Given the description of an element on the screen output the (x, y) to click on. 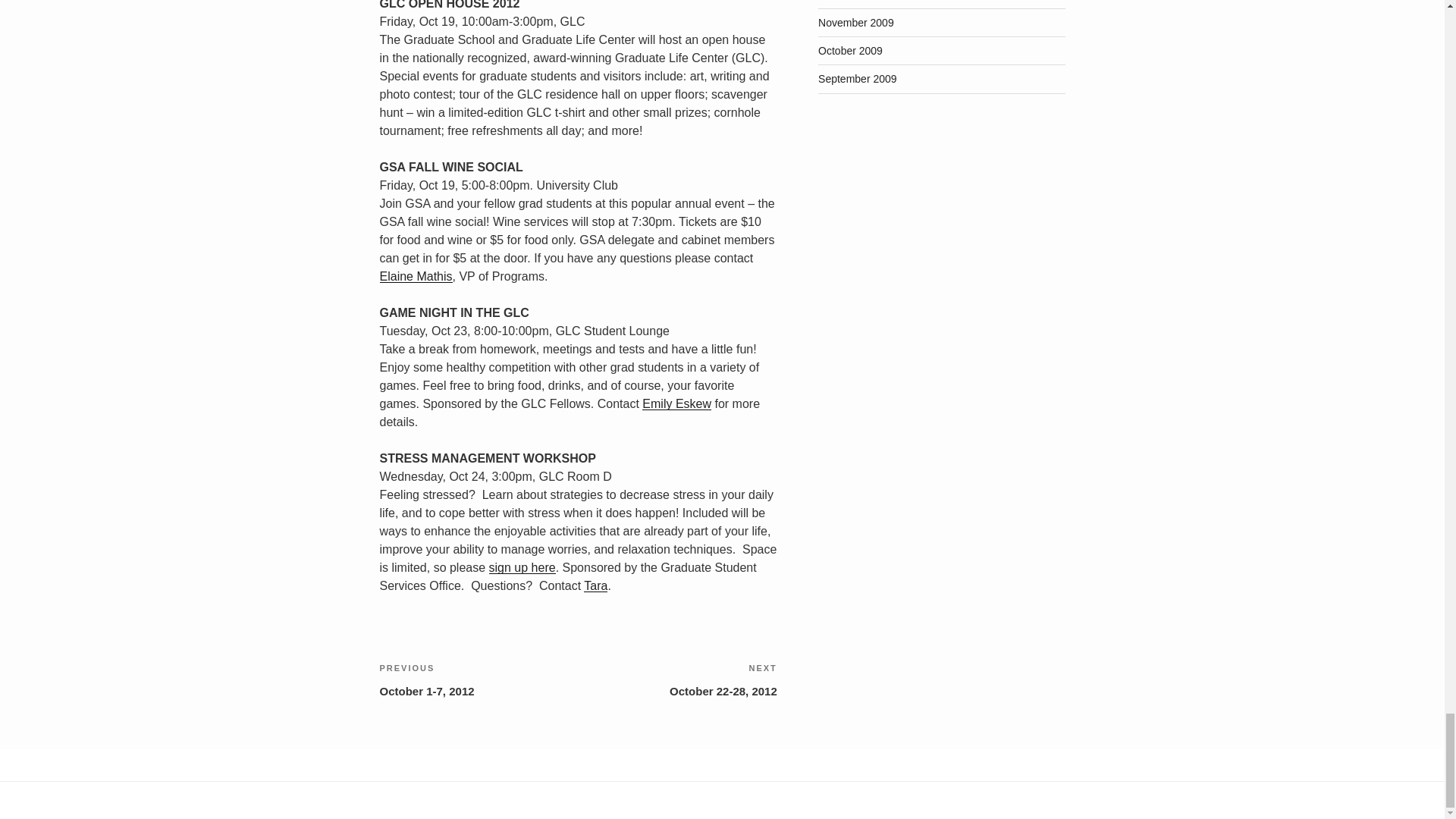
Elaine Mathis (414, 276)
sign up here (522, 567)
Emily Eskew (676, 403)
